Given the description of an element on the screen output the (x, y) to click on. 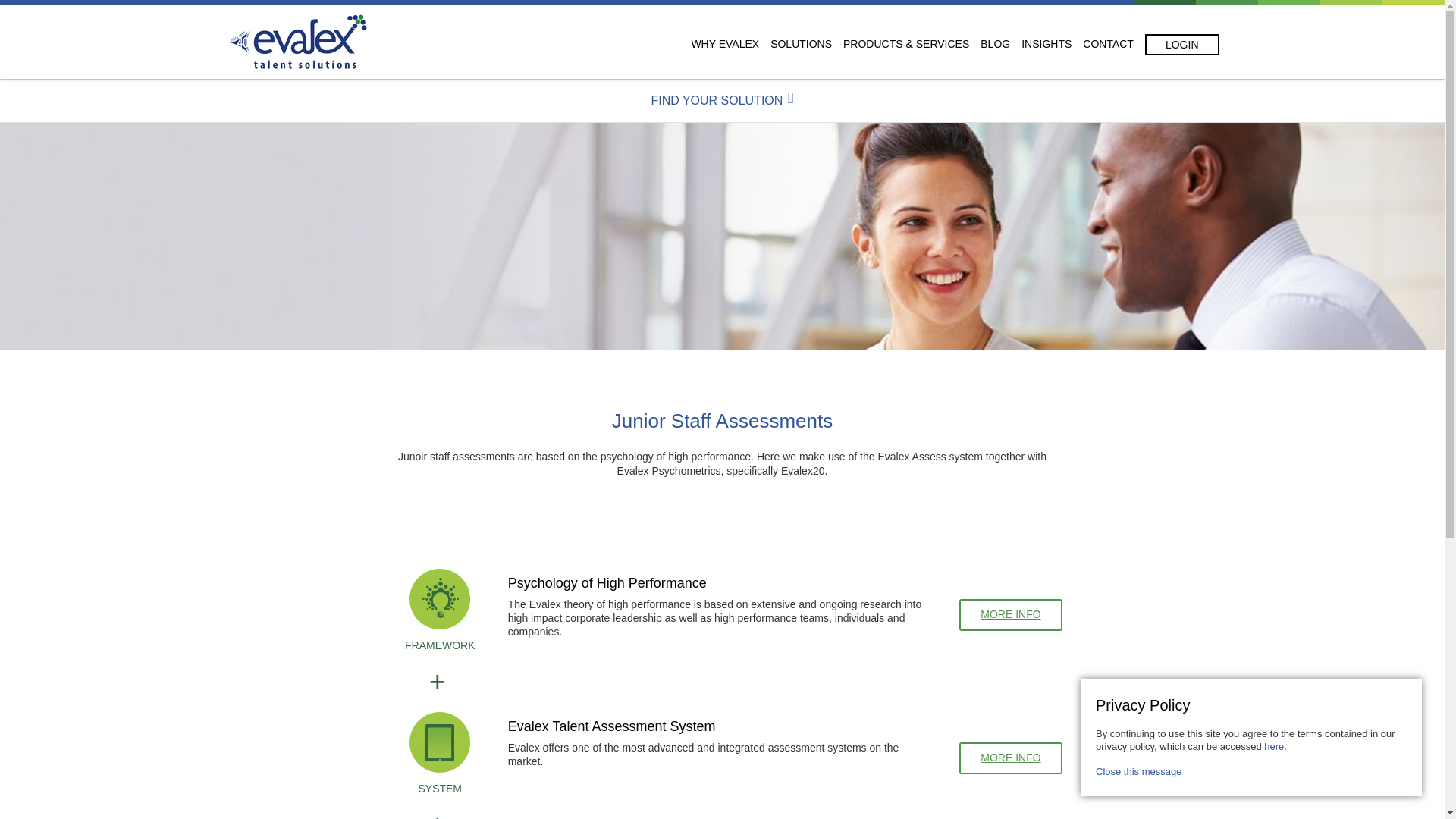
WHY EVALEX (724, 43)
SOLUTIONS (800, 43)
Evalex (298, 42)
